Given the description of an element on the screen output the (x, y) to click on. 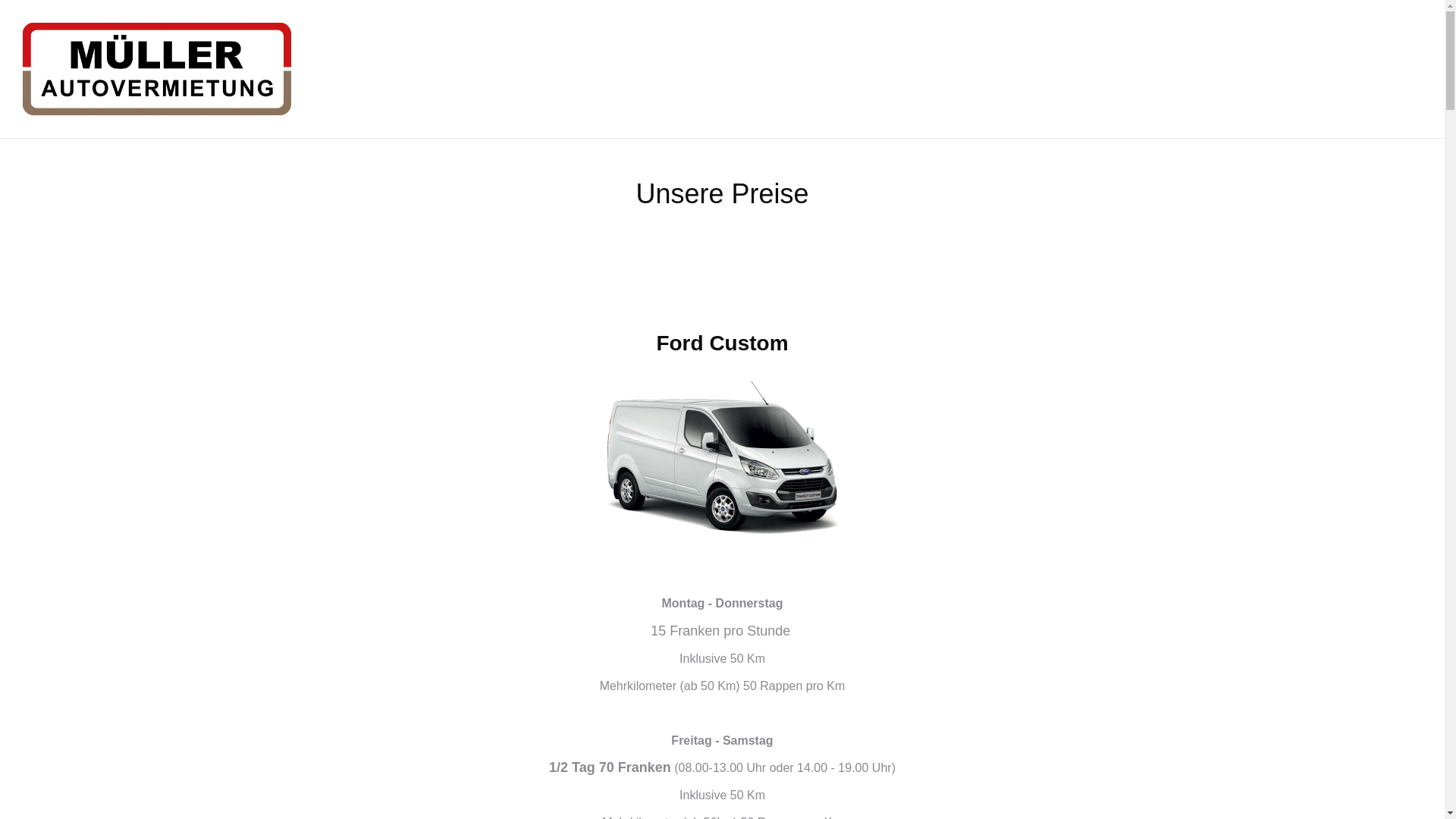
Autovermietung Thun Element type: hover (156, 68)
